Given the description of an element on the screen output the (x, y) to click on. 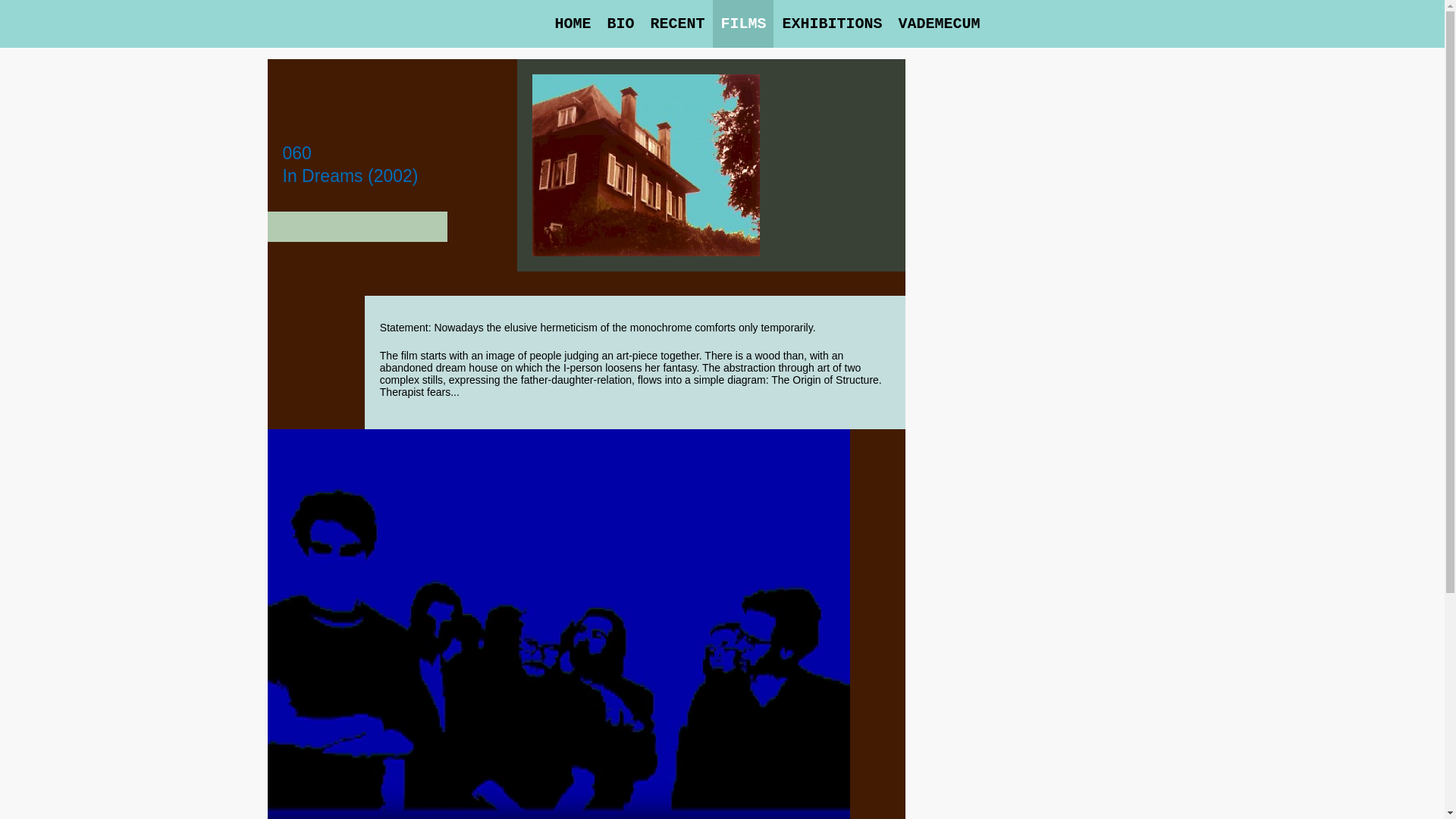
EXHIBITIONS Element type: text (831, 23)
BIO Element type: text (620, 23)
FILMS Element type: text (742, 23)
VADEMECUM Element type: text (938, 23)
HOME Element type: text (572, 23)
RECENT Element type: text (677, 23)
